Given the description of an element on the screen output the (x, y) to click on. 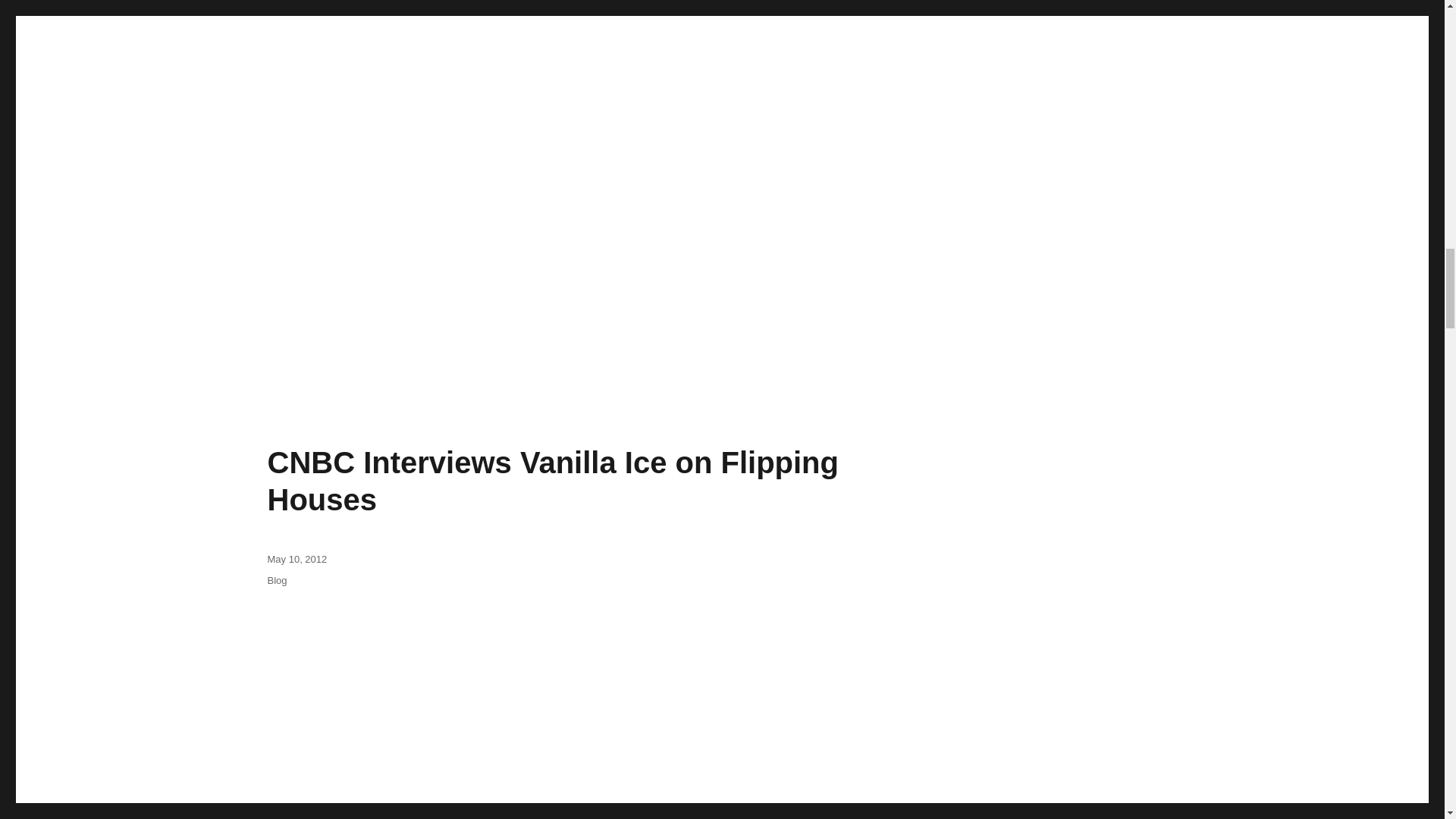
Blog (276, 580)
May 10, 2012 (296, 559)
CNBC Interviews Vanilla Ice on Flipping Houses (552, 480)
